Given the description of an element on the screen output the (x, y) to click on. 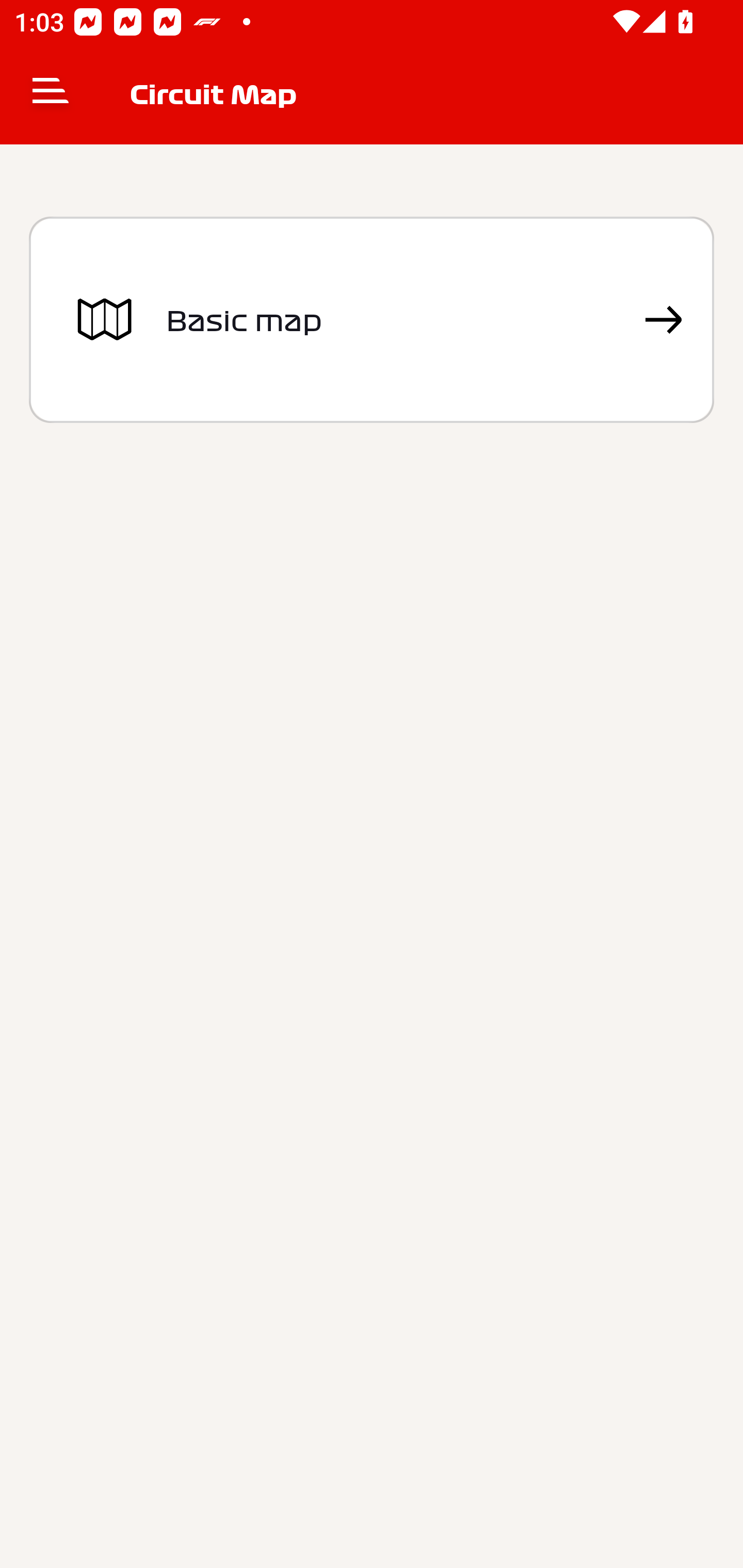
Navigate up (50, 93)
Basic map (371, 319)
